Given the description of an element on the screen output the (x, y) to click on. 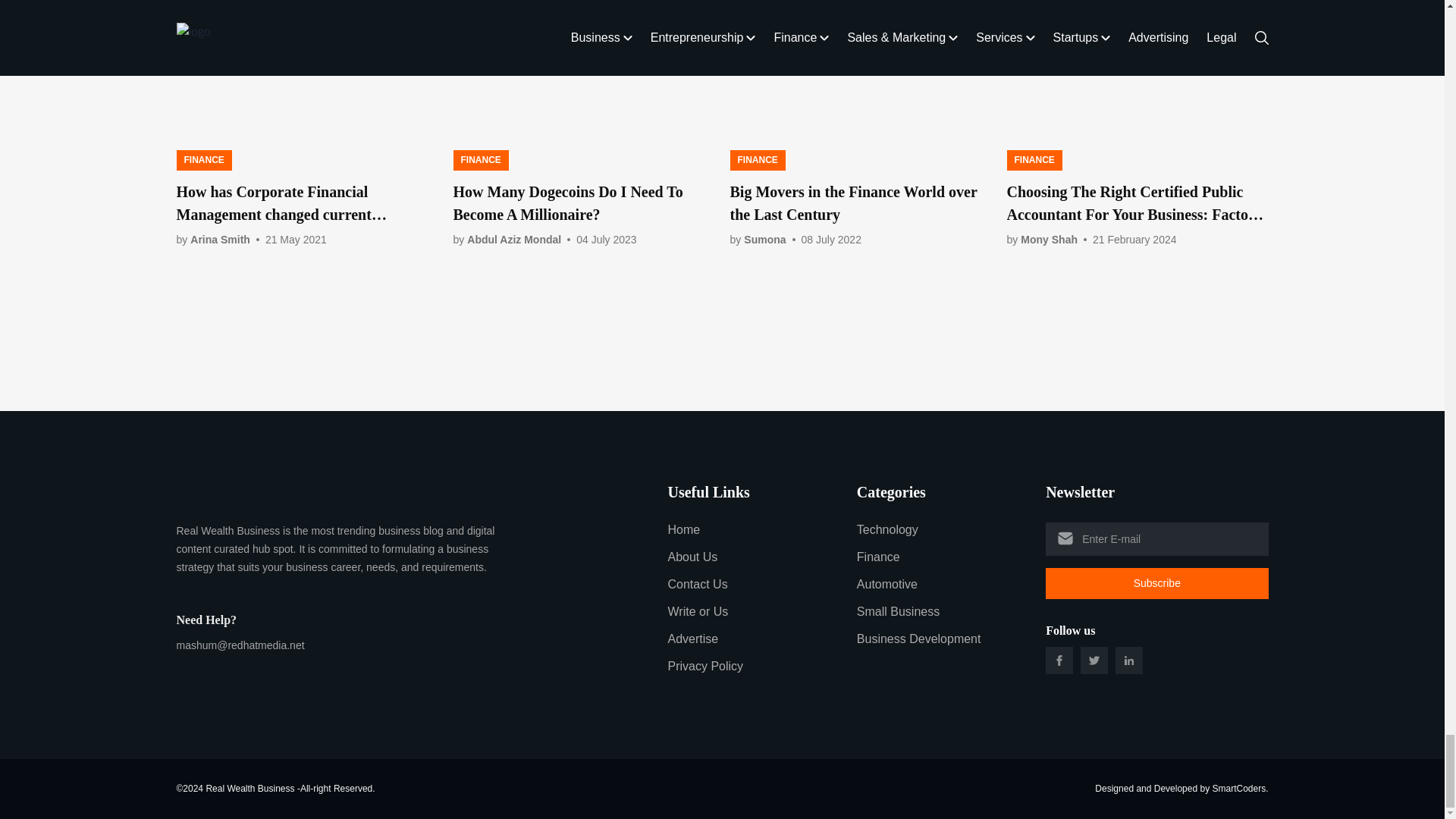
Subscribe (1156, 583)
